Given the description of an element on the screen output the (x, y) to click on. 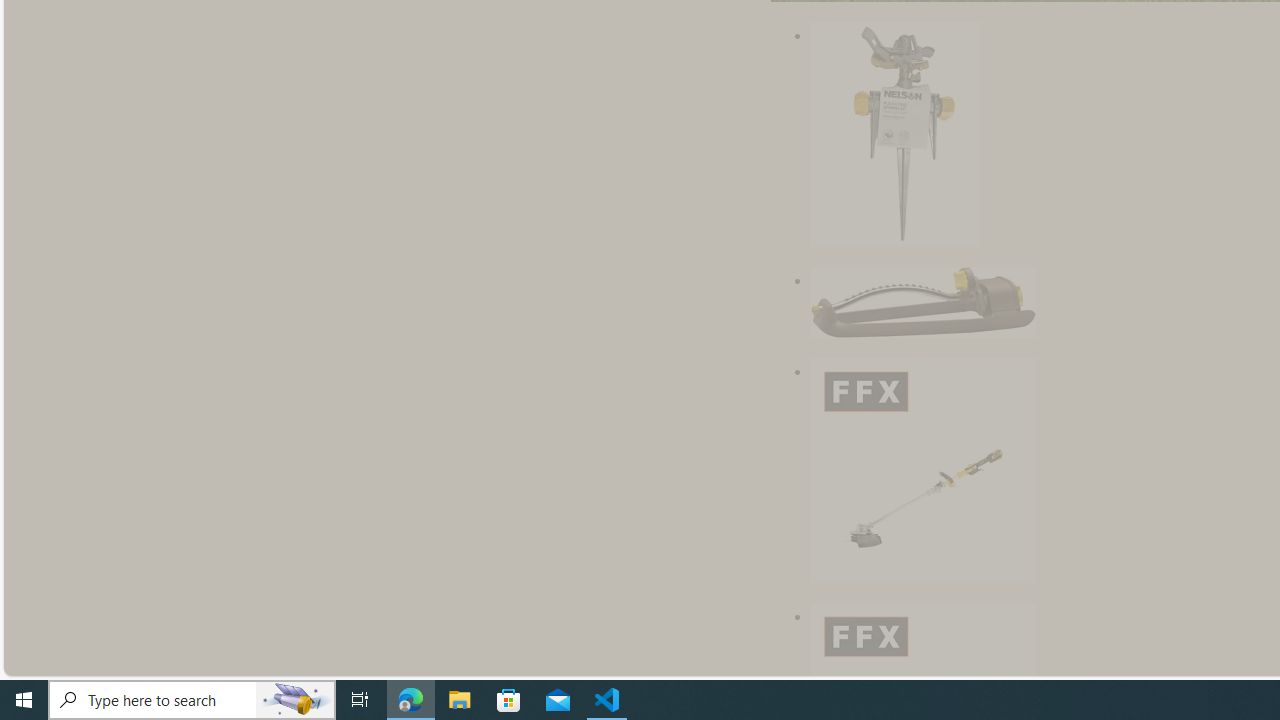
cover (1201, 450)
chainsaws (1181, 362)
leaf blowers (855, 333)
grass seed (1016, 176)
garden supplies (1160, 206)
log splitters (1075, 362)
